Given the description of an element on the screen output the (x, y) to click on. 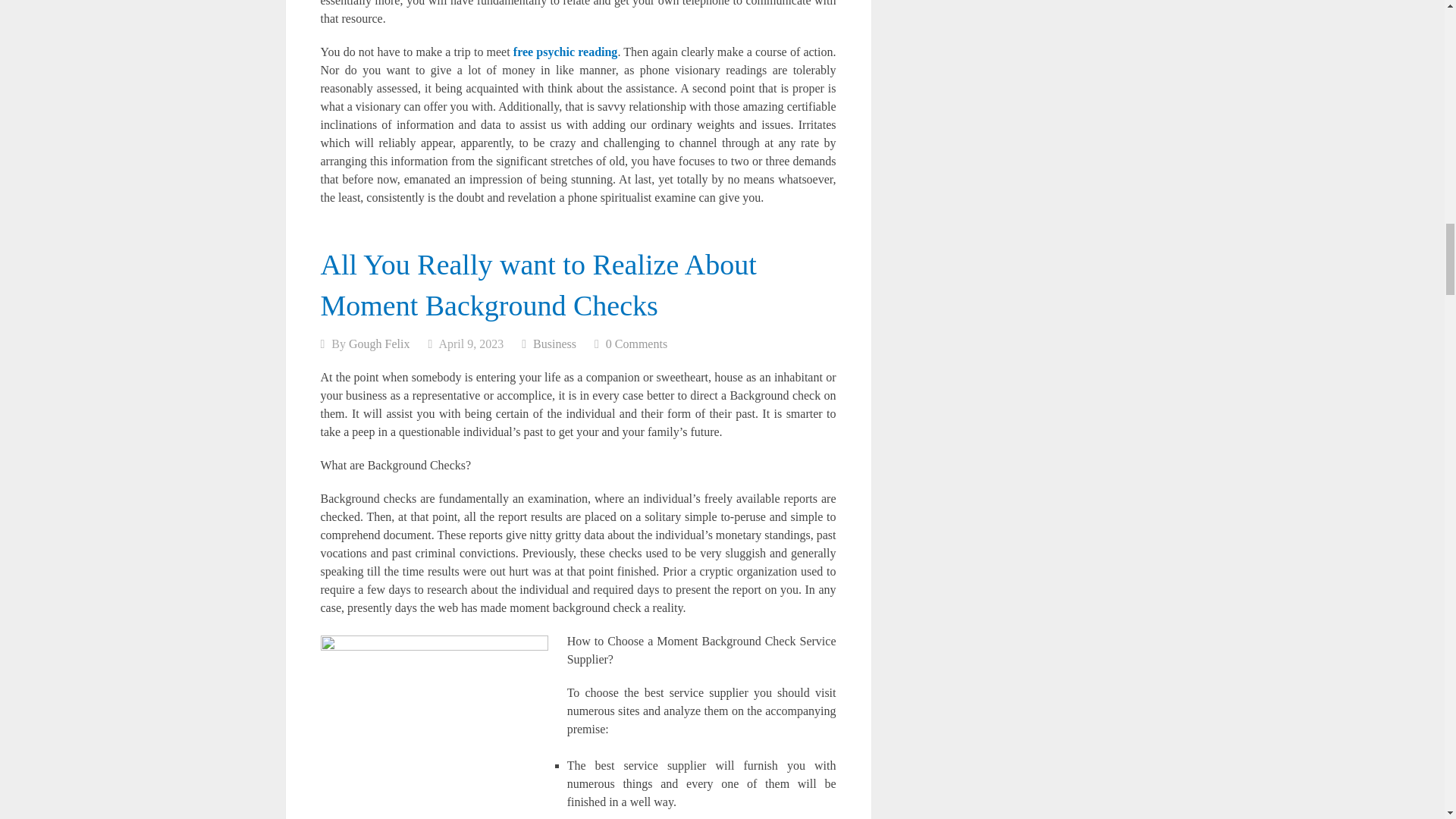
free psychic reading (565, 51)
Gough Felix (379, 343)
Business (554, 343)
Posts by Gough Felix (379, 343)
0 Comments (635, 343)
